Given the description of an element on the screen output the (x, y) to click on. 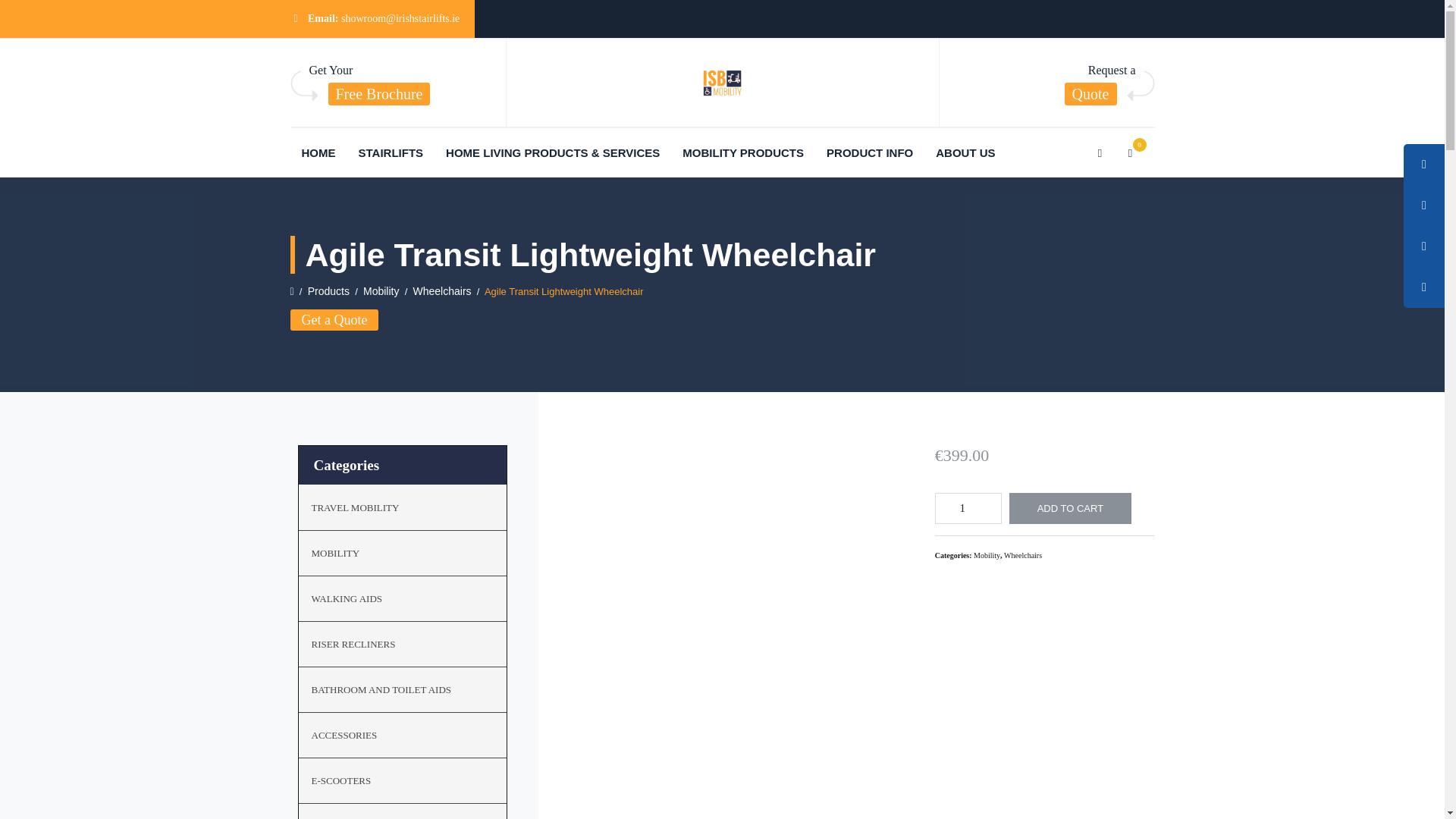
1 (967, 508)
Go to the Mobility Category archives. (380, 291)
Go to Products. (328, 291)
STAIRLIFTS (390, 151)
Go to the Wheelchairs Category archives. (442, 291)
ABOUT US (965, 151)
Quote (1090, 93)
PRODUCT INFO (869, 151)
Free Brochure (378, 93)
MOBILITY PRODUCTS (742, 151)
